Given the description of an element on the screen output the (x, y) to click on. 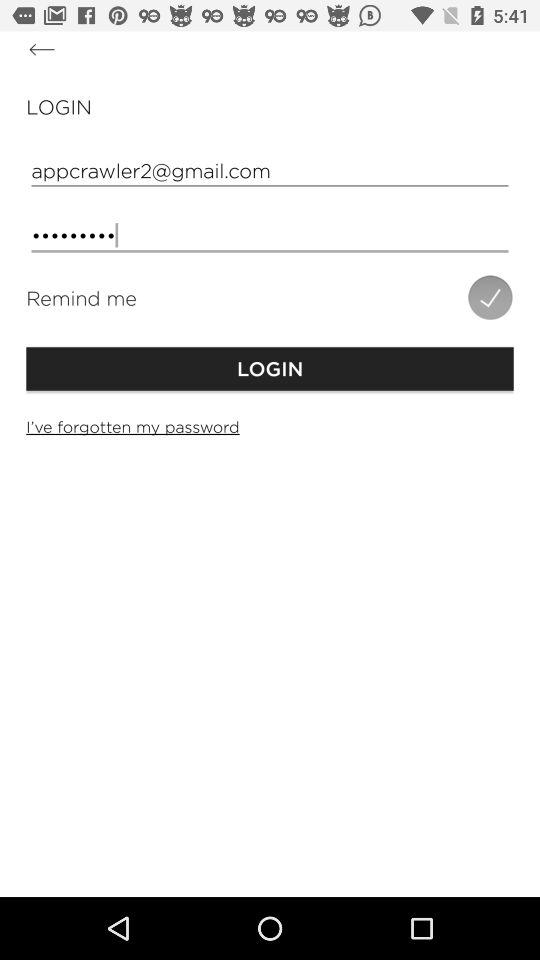
launch the icon above the login (42, 49)
